Given the description of an element on the screen output the (x, y) to click on. 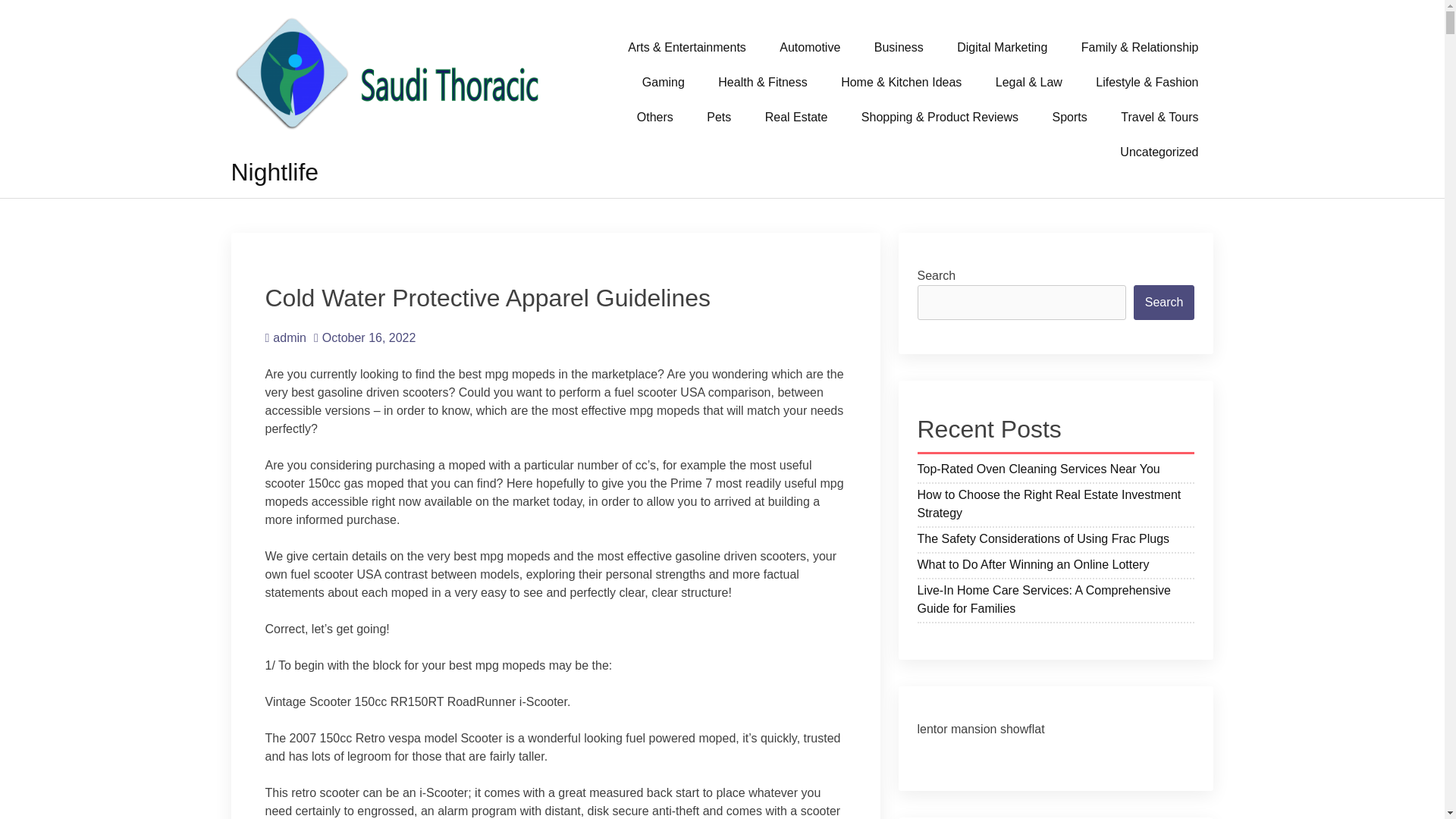
October 16, 2022 (364, 337)
Business (899, 46)
Pets (718, 116)
How to Choose the Right Real Estate Investment Strategy (1056, 506)
admin (284, 337)
Gaming (663, 81)
Top-Rated Oven Cleaning Services Near You (1056, 471)
Sports (1069, 116)
Nightlife (274, 171)
